Given the description of an element on the screen output the (x, y) to click on. 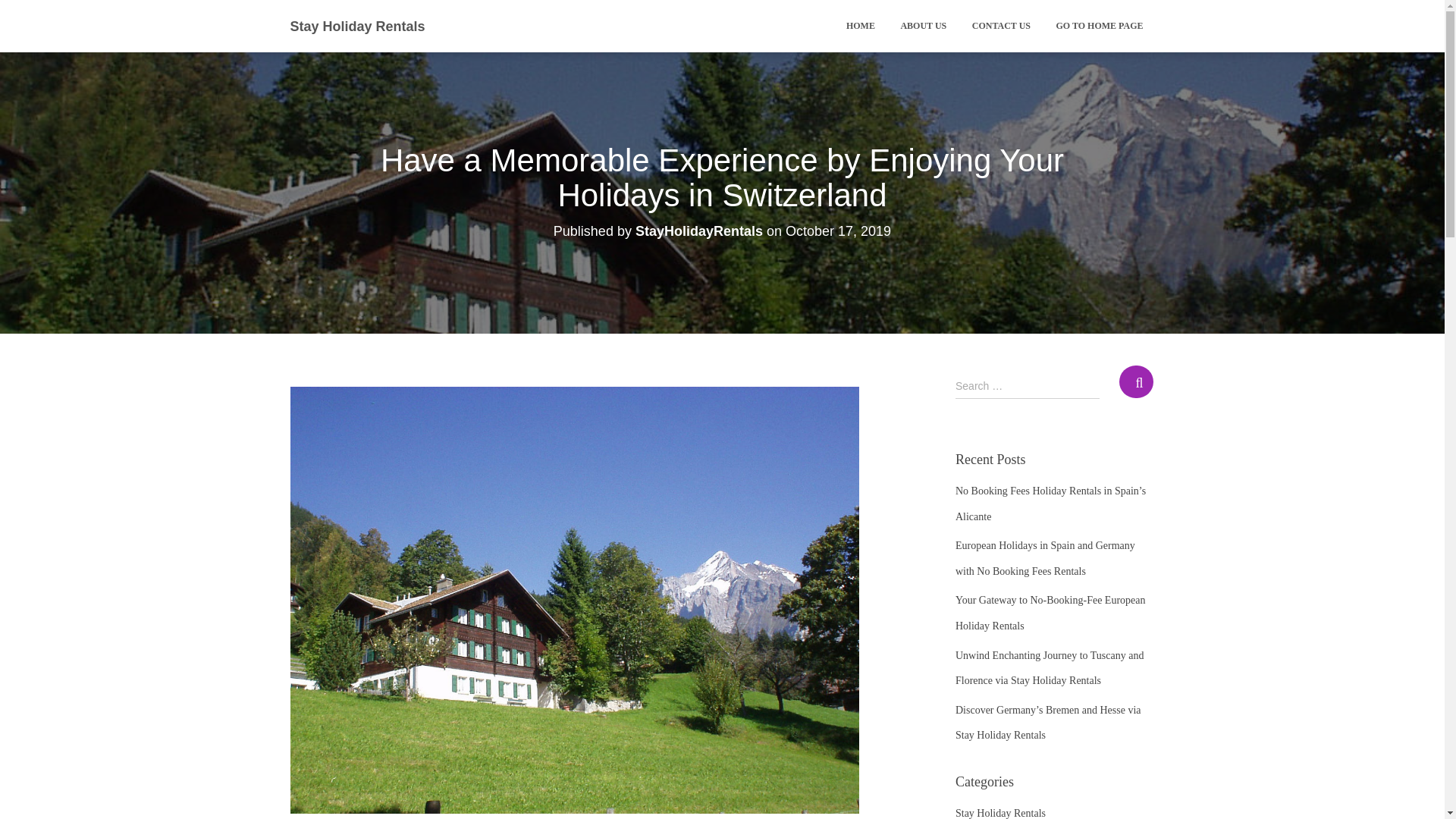
HOME (860, 26)
Your Gateway to No-Booking-Fee European Holiday Rentals (1050, 612)
Stay Holiday Rentals (357, 26)
About Us (923, 26)
Stay Holiday Rentals (357, 26)
Search (1136, 381)
ABOUT US (923, 26)
Search (1136, 381)
GO TO HOME PAGE (1098, 26)
StayHolidayRentals (698, 231)
Contact Us (1001, 26)
CONTACT US (1001, 26)
Home (860, 26)
